Given the description of an element on the screen output the (x, y) to click on. 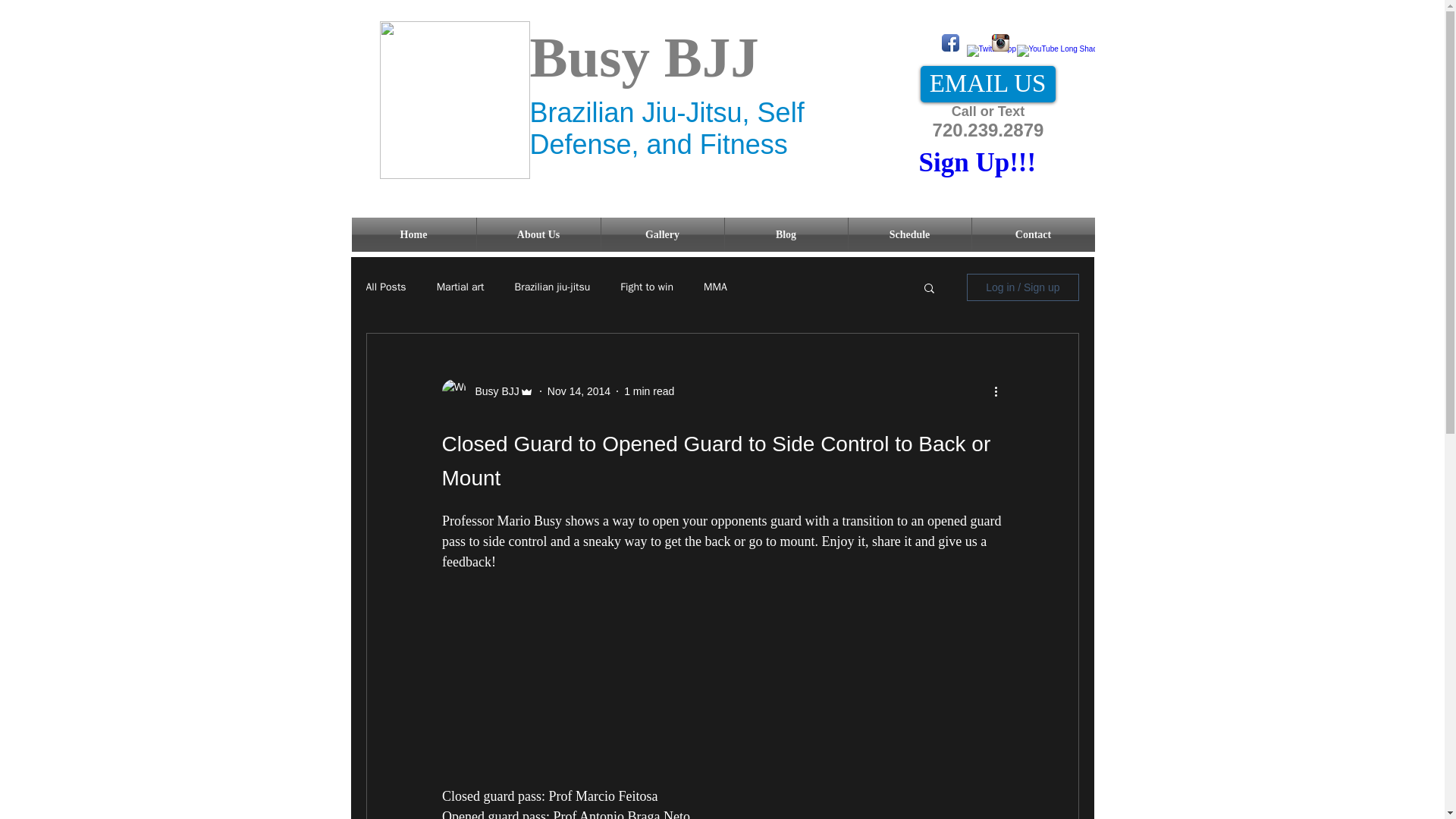
MMA (714, 287)
Brazilian jiu-jitsu (553, 287)
Martial art (460, 287)
Fight to win (646, 287)
Gallery (661, 234)
Busy BJJ (491, 391)
ricos-video (722, 651)
Schedule (909, 234)
Contact (1033, 234)
About Us (537, 234)
Nov 14, 2014 (578, 390)
Home (414, 234)
Sign Up!!! (977, 161)
1 min read (649, 390)
EMAIL US (987, 84)
